Given the description of an element on the screen output the (x, y) to click on. 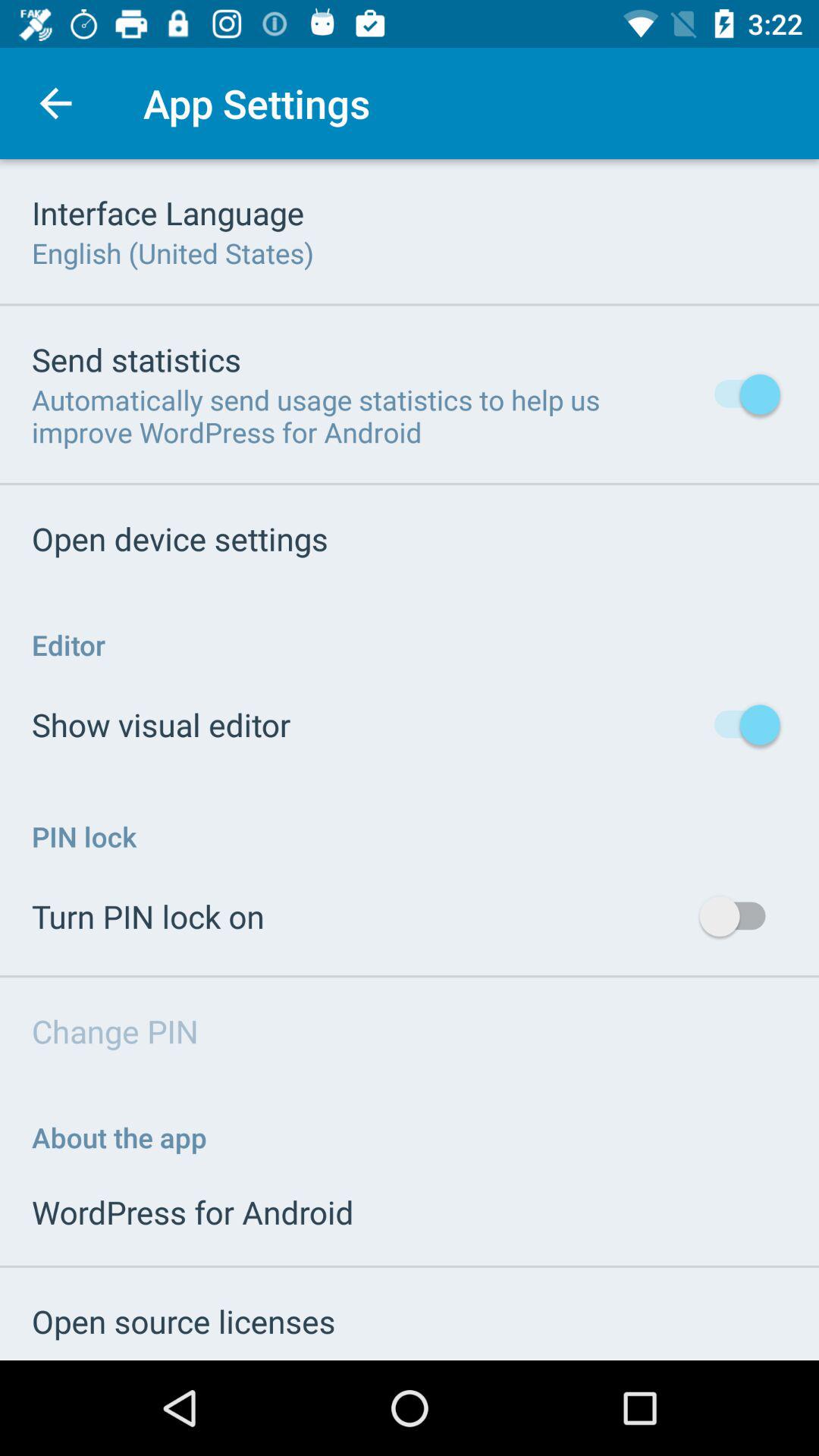
launch english (united states) icon (172, 252)
